Given the description of an element on the screen output the (x, y) to click on. 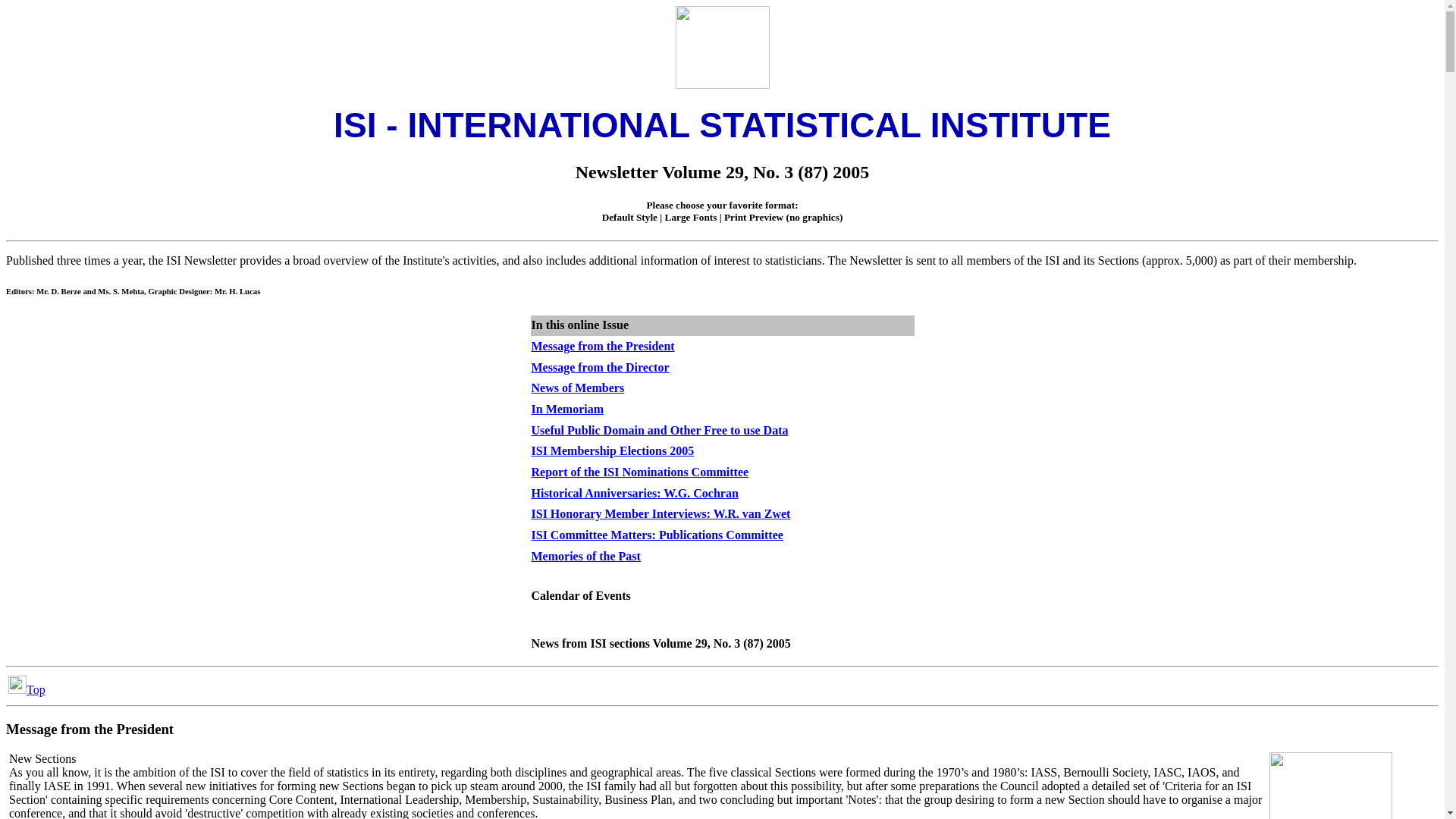
Useful Public Domain and Other Free to use Data (659, 430)
Message from the Director (599, 367)
Message from the President (602, 345)
ISI Membership Elections 2005 (612, 450)
In this online Issue (579, 324)
In Memoriam (567, 408)
ISI Honorary Member Interviews: W.R. van Zwet (660, 513)
ISI Committee Matters: Publications Committee (657, 534)
News of Members (577, 387)
Top (26, 689)
